Given the description of an element on the screen output the (x, y) to click on. 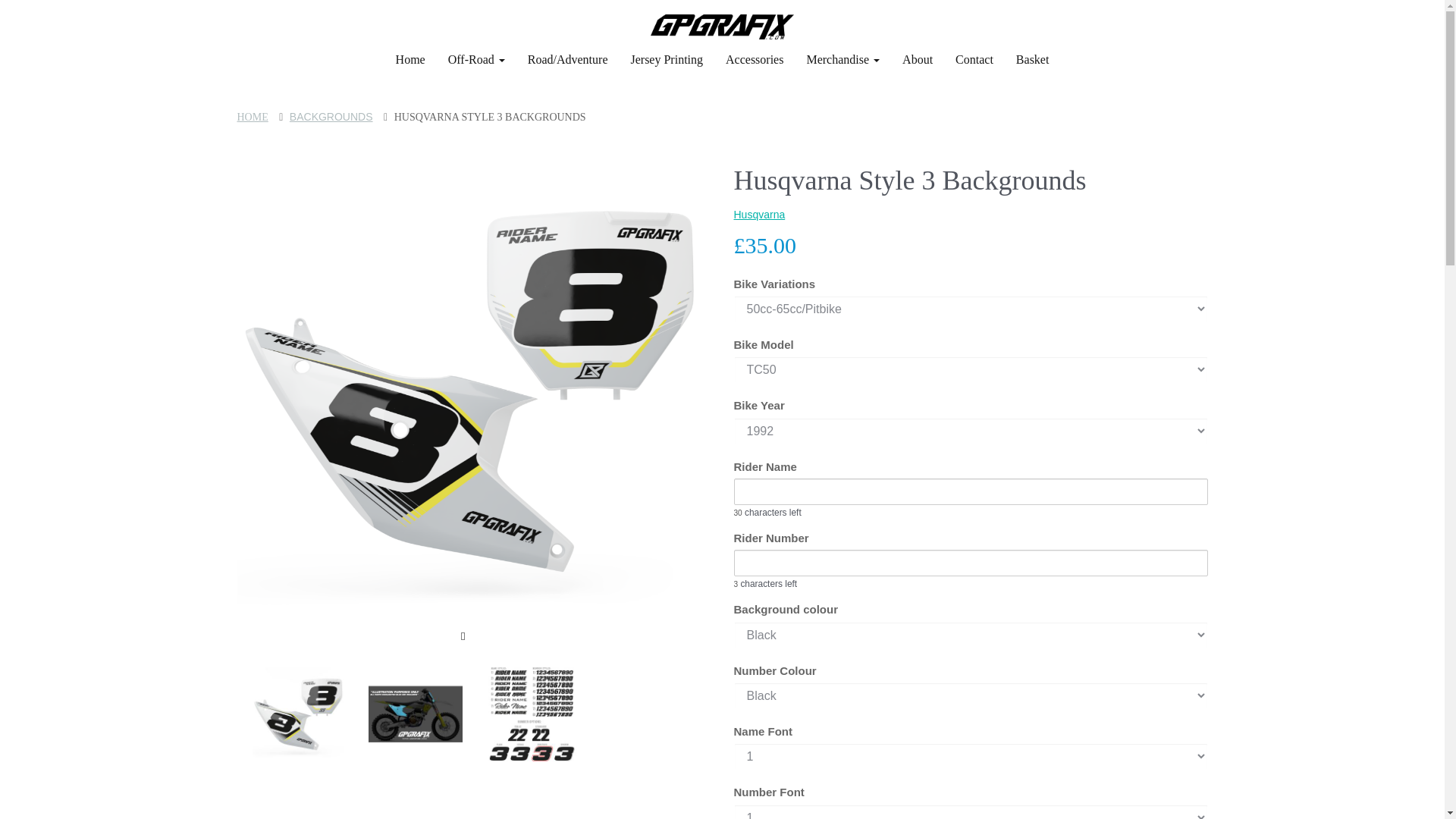
HOME (251, 116)
Accessories (754, 59)
About (917, 59)
Basket (1032, 59)
Jersey Printing (666, 59)
Off-Road (476, 59)
Merchandise (842, 59)
Home (410, 59)
Contact (973, 59)
